Given the description of an element on the screen output the (x, y) to click on. 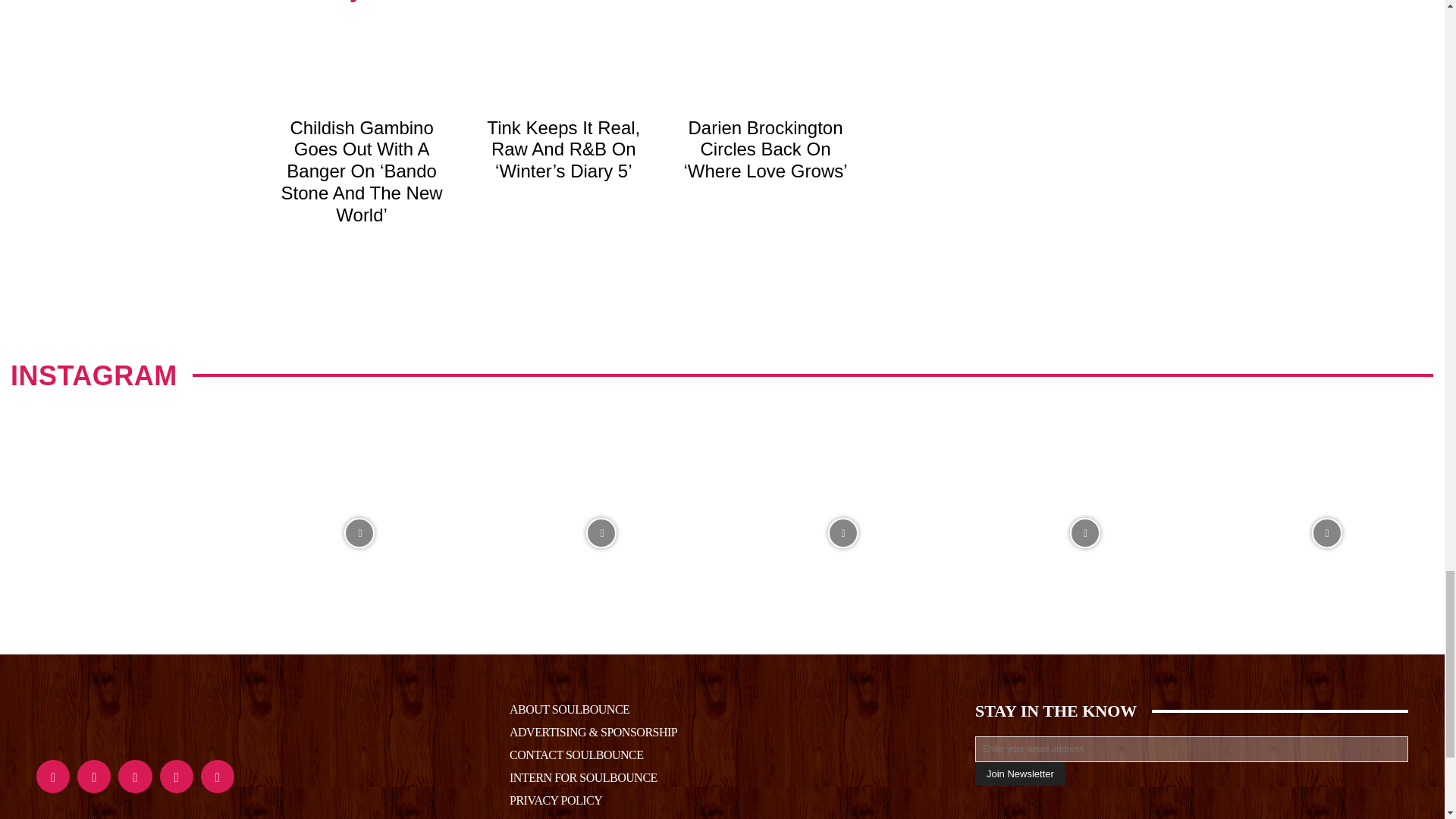
Join Newsletter (1020, 773)
